Given the description of an element on the screen output the (x, y) to click on. 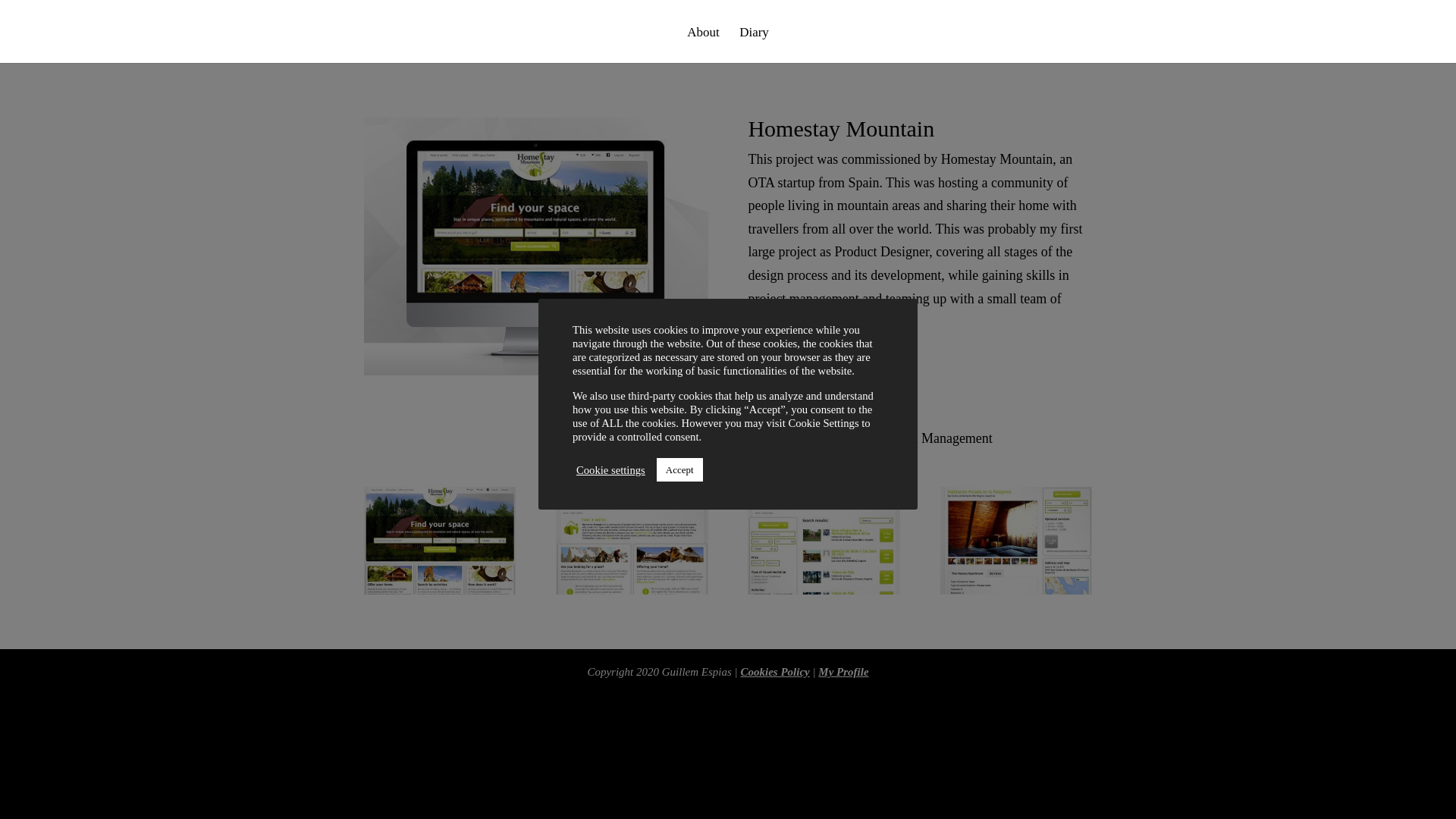
Cookie settings (610, 469)
Cookies Policy (774, 671)
Accept (679, 469)
My Profile (842, 671)
About (703, 45)
